Given the description of an element on the screen output the (x, y) to click on. 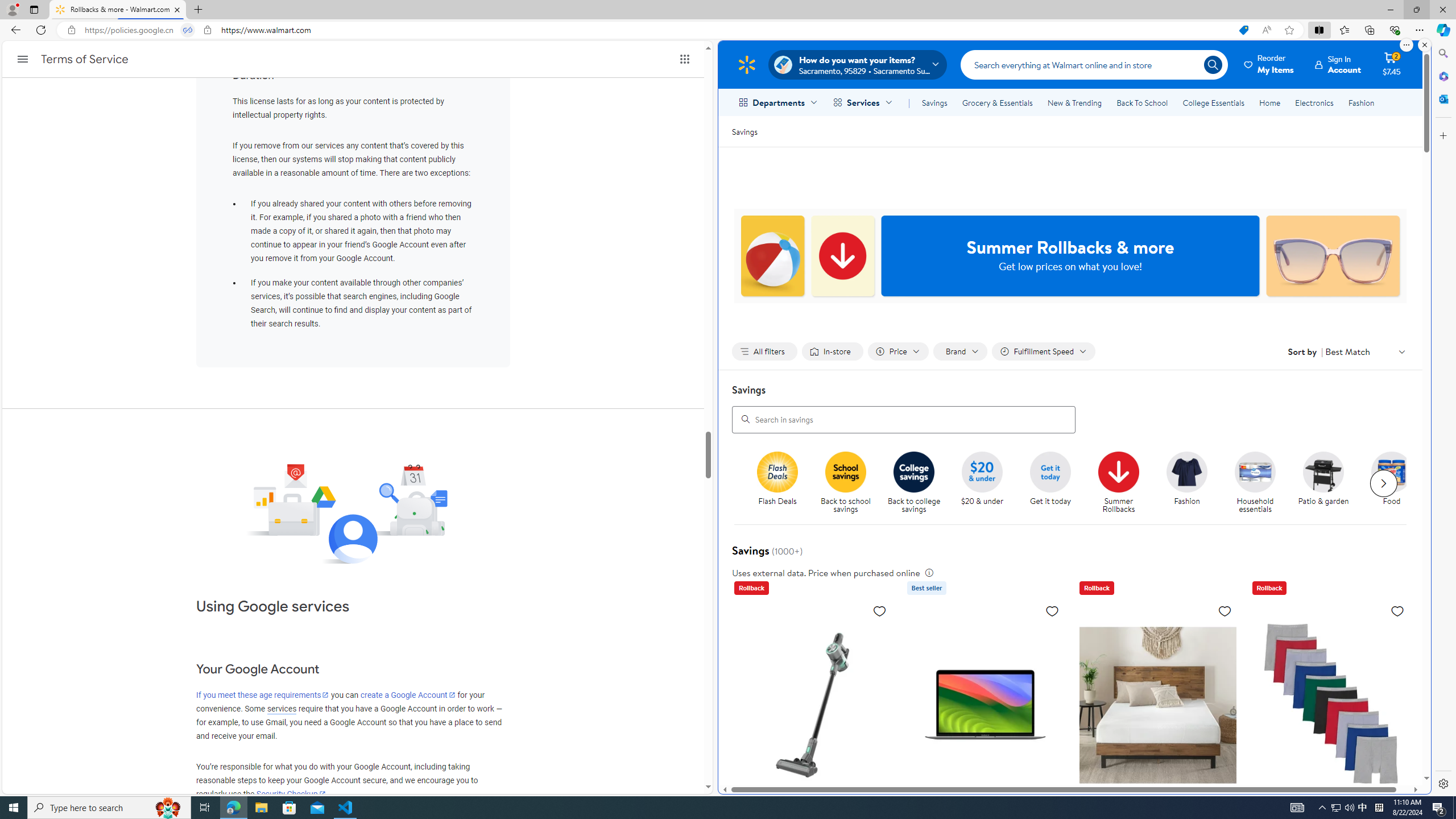
Filter by Brand not applied, activate to change (960, 351)
$20 and under $20 & under (981, 478)
Back to School savings (845, 471)
Patio & garden (1328, 483)
Household essentials (1259, 483)
Next slide for chipModuleWithImages list (1383, 483)
Reorder My Items (1269, 64)
Hanes Men's Super Value Pack Assorted Boxer Briefs, 10 Pack (1330, 704)
